Given the description of an element on the screen output the (x, y) to click on. 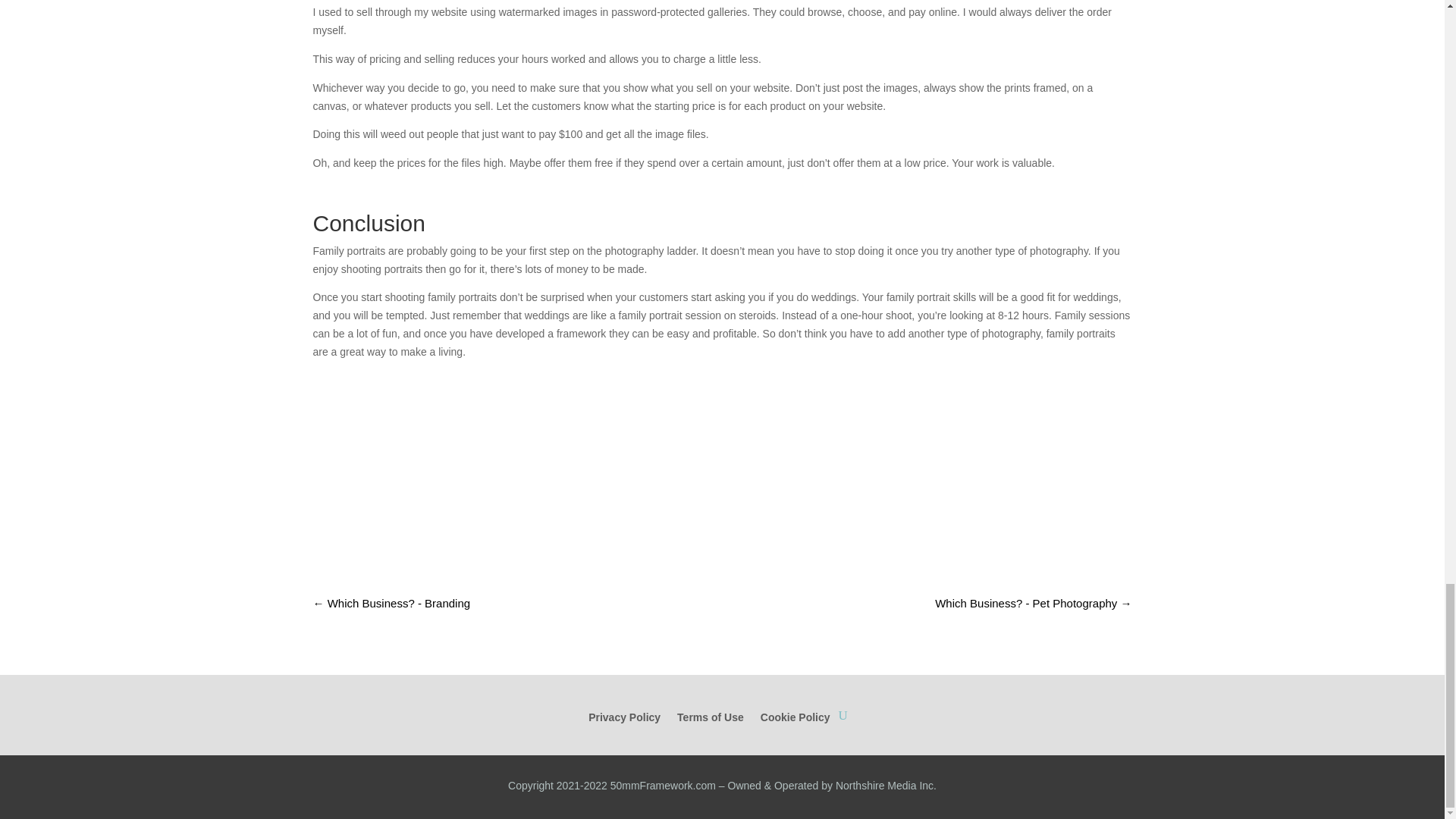
Cookie Policy (794, 727)
Terms of Use (710, 727)
Privacy Policy (624, 727)
